Given the description of an element on the screen output the (x, y) to click on. 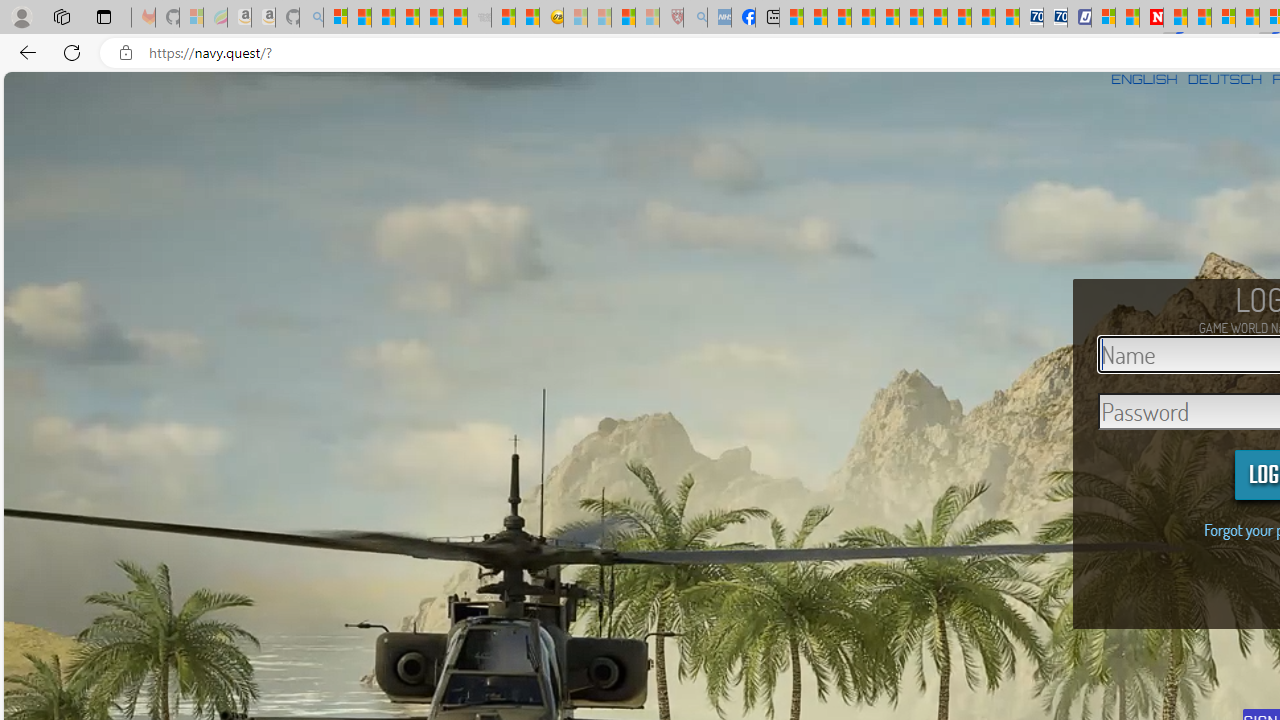
Latest Politics News & Archive | Newsweek.com (1151, 17)
Climate Damage Becomes Too Severe To Reverse (863, 17)
Combat Siege - Sleeping (479, 17)
ENGLISH (1144, 79)
The Weather Channel - MSN (383, 17)
Robert H. Shmerling, MD - Harvard Health - Sleeping (671, 17)
